Given the description of an element on the screen output the (x, y) to click on. 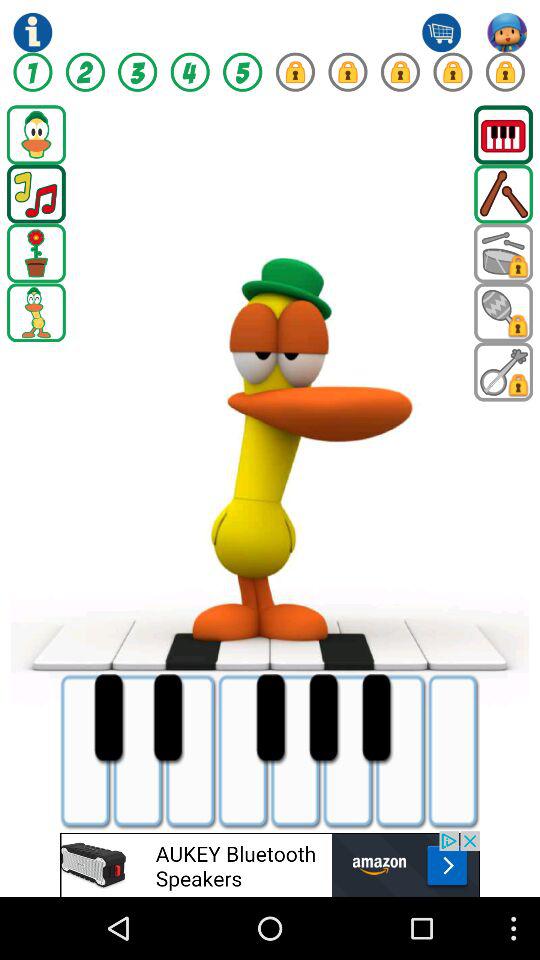
advertisement page (270, 864)
